Given the description of an element on the screen output the (x, y) to click on. 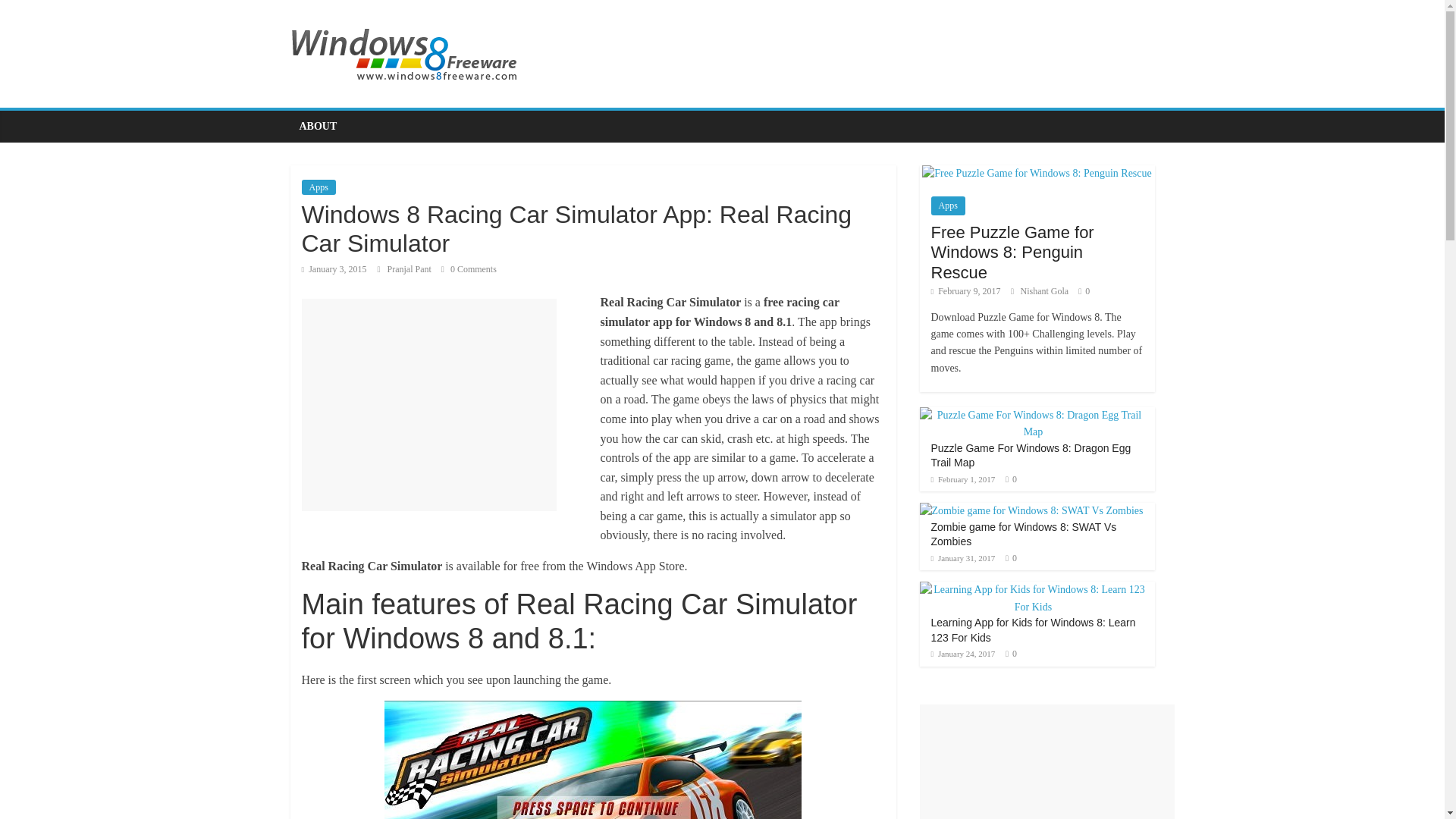
12:00 pm (333, 268)
Apps (948, 205)
January 31, 2017 (963, 557)
Free Puzzle Game for Windows 8: Penguin Rescue (1036, 173)
Real Racing Car Simulator Main Screen (593, 760)
ABOUT (317, 126)
February 9, 2017 (966, 290)
Pranjal Pant (410, 268)
0 Comments (468, 268)
10:00 am (966, 290)
